Given the description of an element on the screen output the (x, y) to click on. 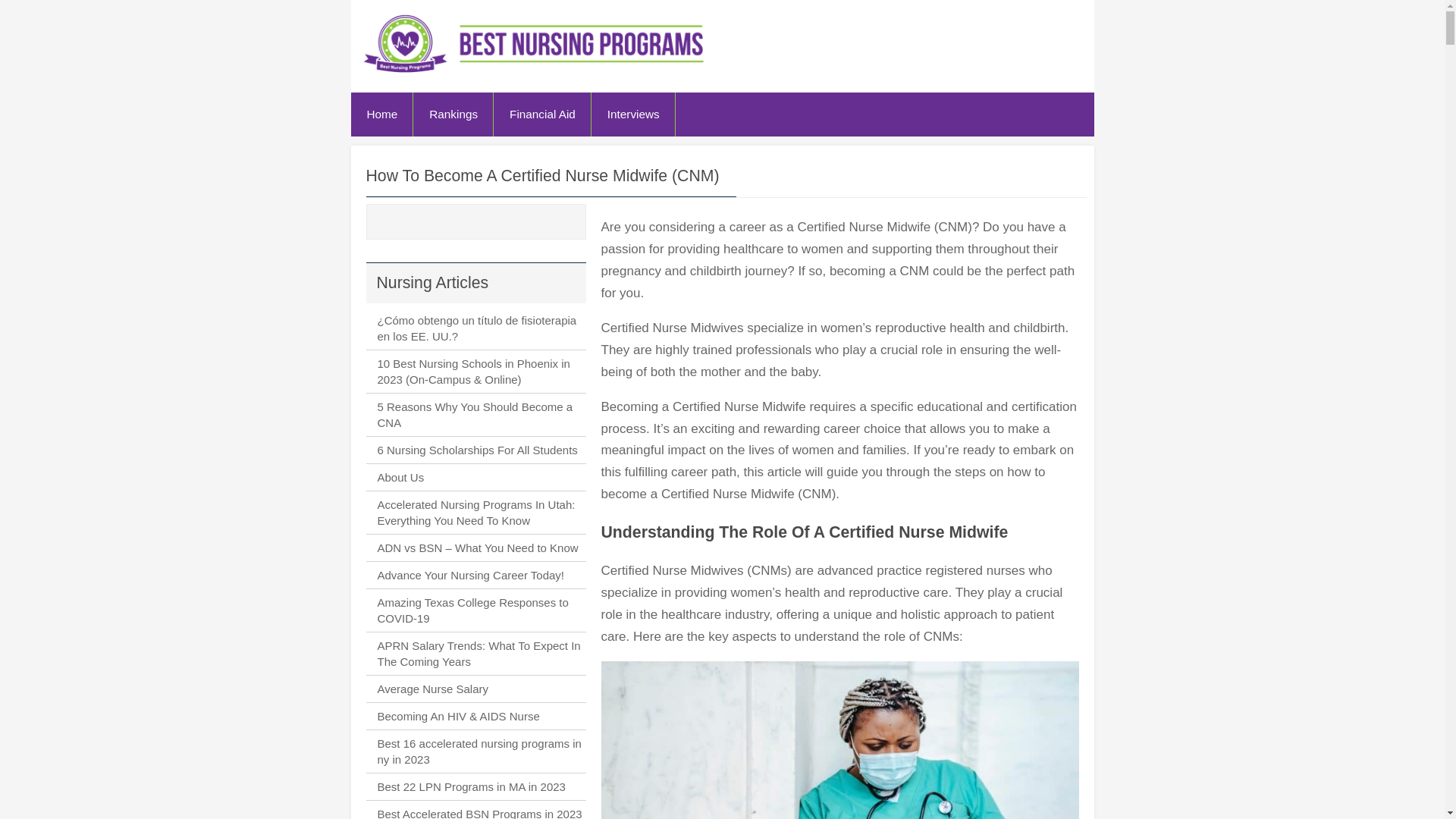
Home (381, 113)
Rankings (453, 113)
6 Nursing Scholarships For All Students (477, 449)
Interviews (633, 113)
APRN Salary Trends: What To Expect In The Coming Years (478, 653)
About Us (401, 477)
5 Reasons Why You Should Become a CNA (475, 414)
Financial Aid (542, 113)
Advance Your Nursing Career Today! (470, 574)
Best 22 LPN Programs in MA in 2023 (471, 786)
Average Nurse Salary (432, 688)
Amazing Texas College Responses to COVID-19 (473, 610)
Best 16 accelerated nursing programs in ny in 2023 (478, 751)
